Given the description of an element on the screen output the (x, y) to click on. 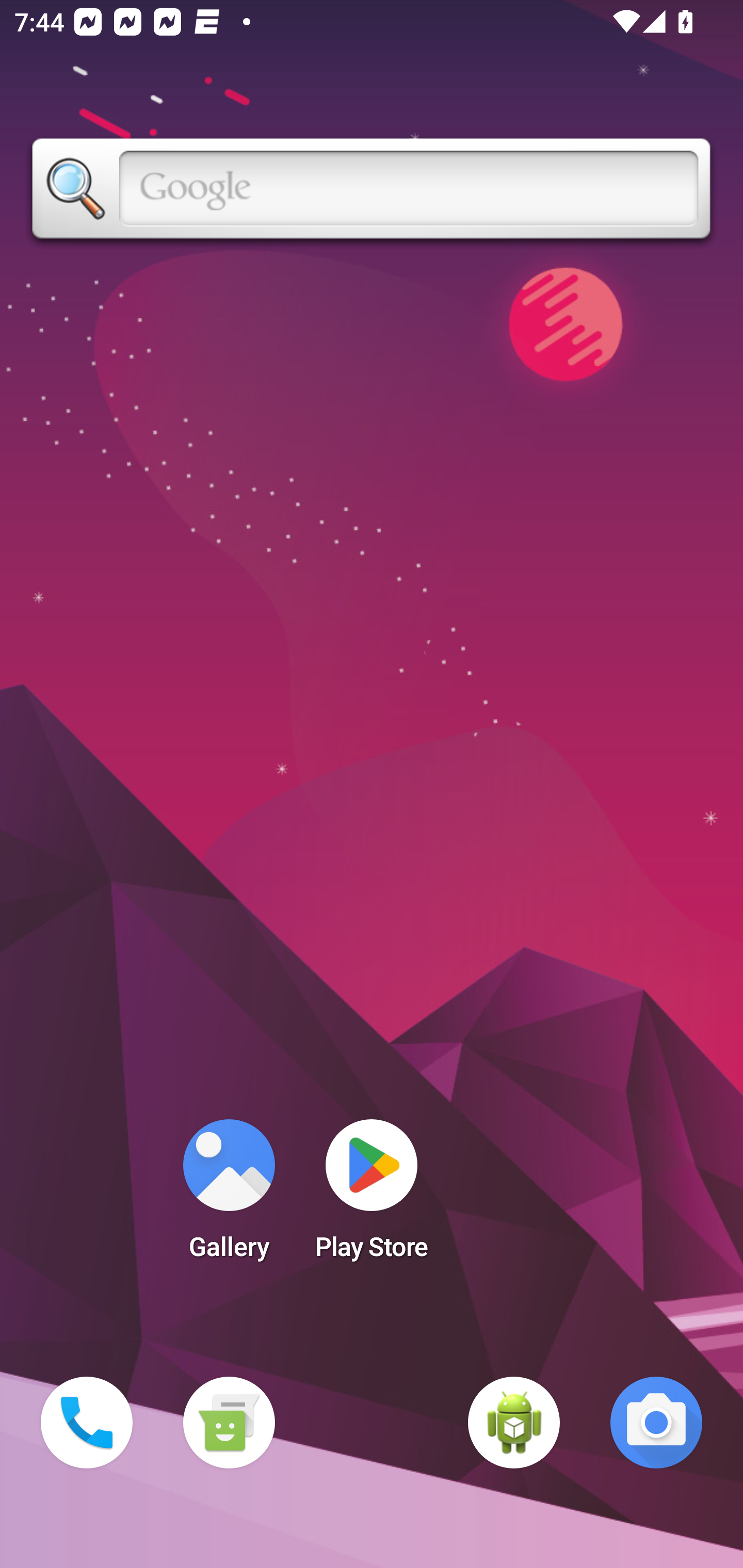
Gallery (228, 1195)
Play Store (371, 1195)
Phone (86, 1422)
Messaging (228, 1422)
WebView Browser Tester (513, 1422)
Camera (656, 1422)
